Given the description of an element on the screen output the (x, y) to click on. 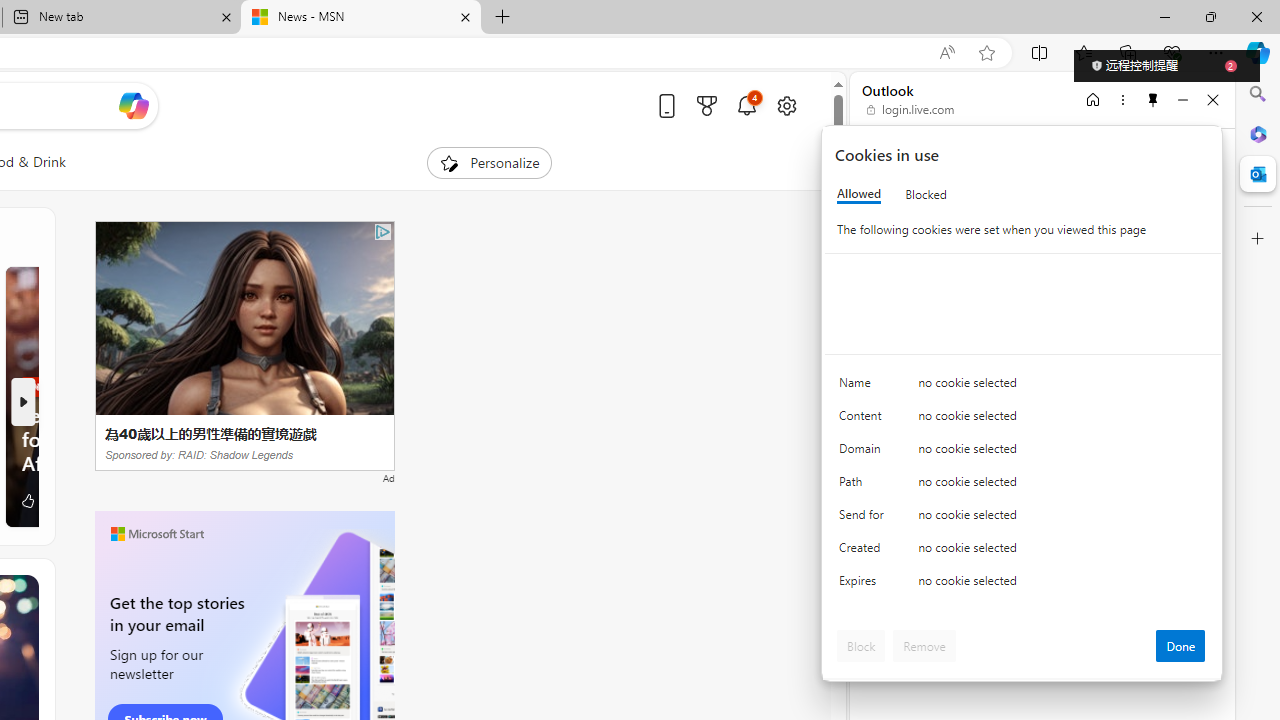
Name (864, 387)
171 Like (38, 500)
Send for (864, 518)
login.live.com (911, 110)
Blocked (925, 193)
Path (864, 485)
no cookie selected (1062, 585)
